Given the description of an element on the screen output the (x, y) to click on. 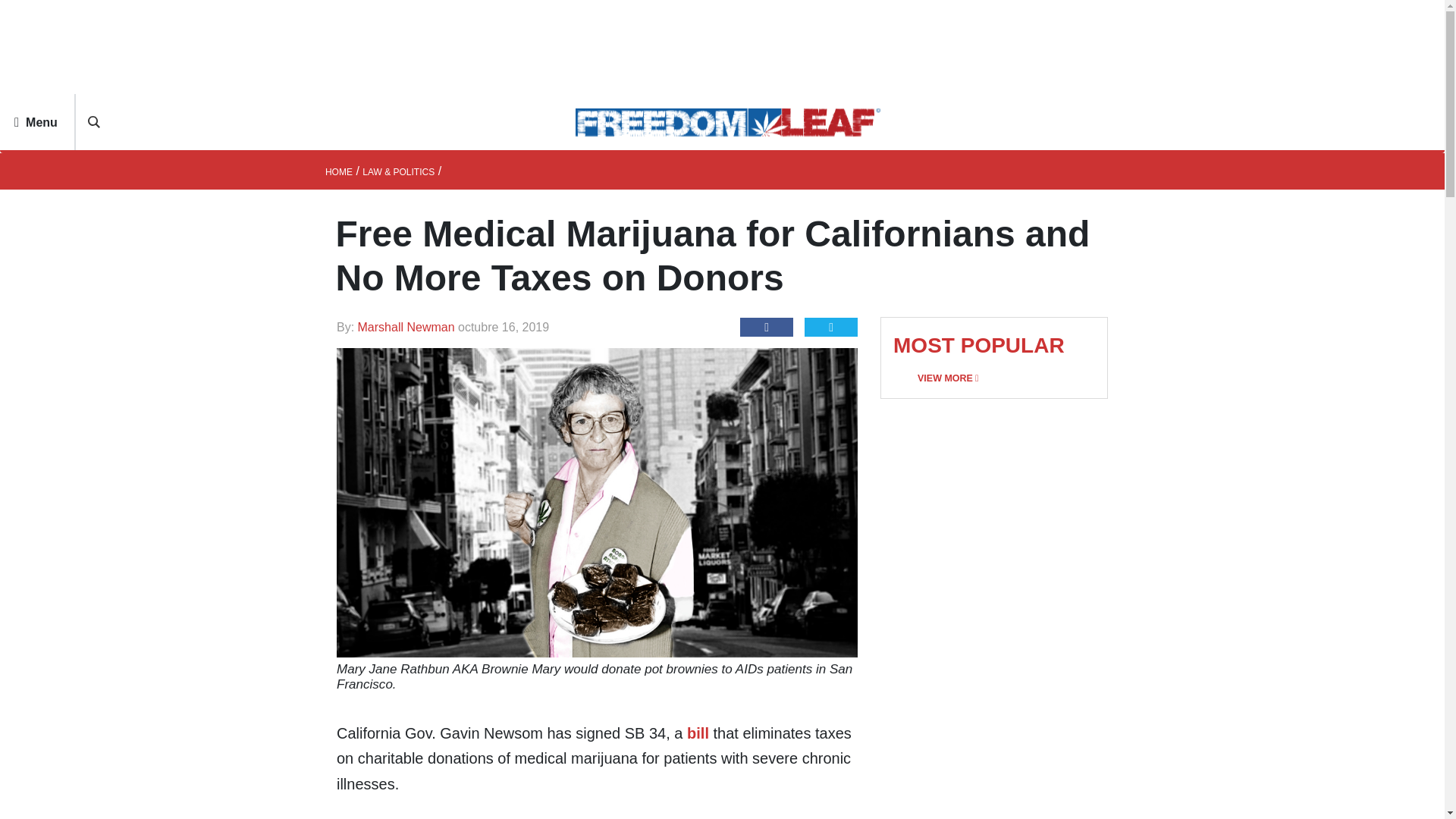
Marshall Newman (408, 327)
HOME (338, 172)
bill (694, 733)
